Given the description of an element on the screen output the (x, y) to click on. 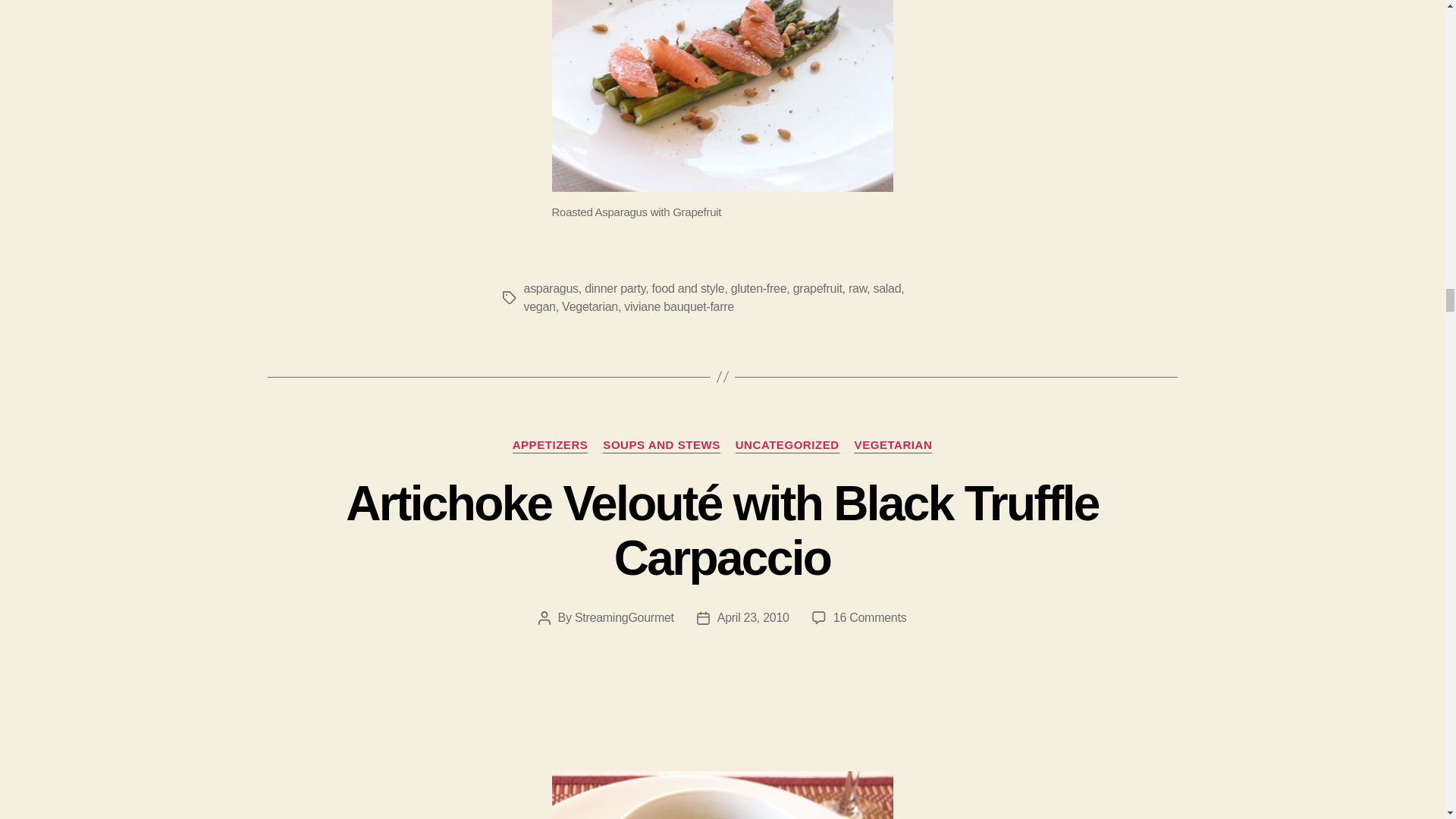
P4205190 (722, 795)
P4235214 (722, 95)
